Given the description of an element on the screen output the (x, y) to click on. 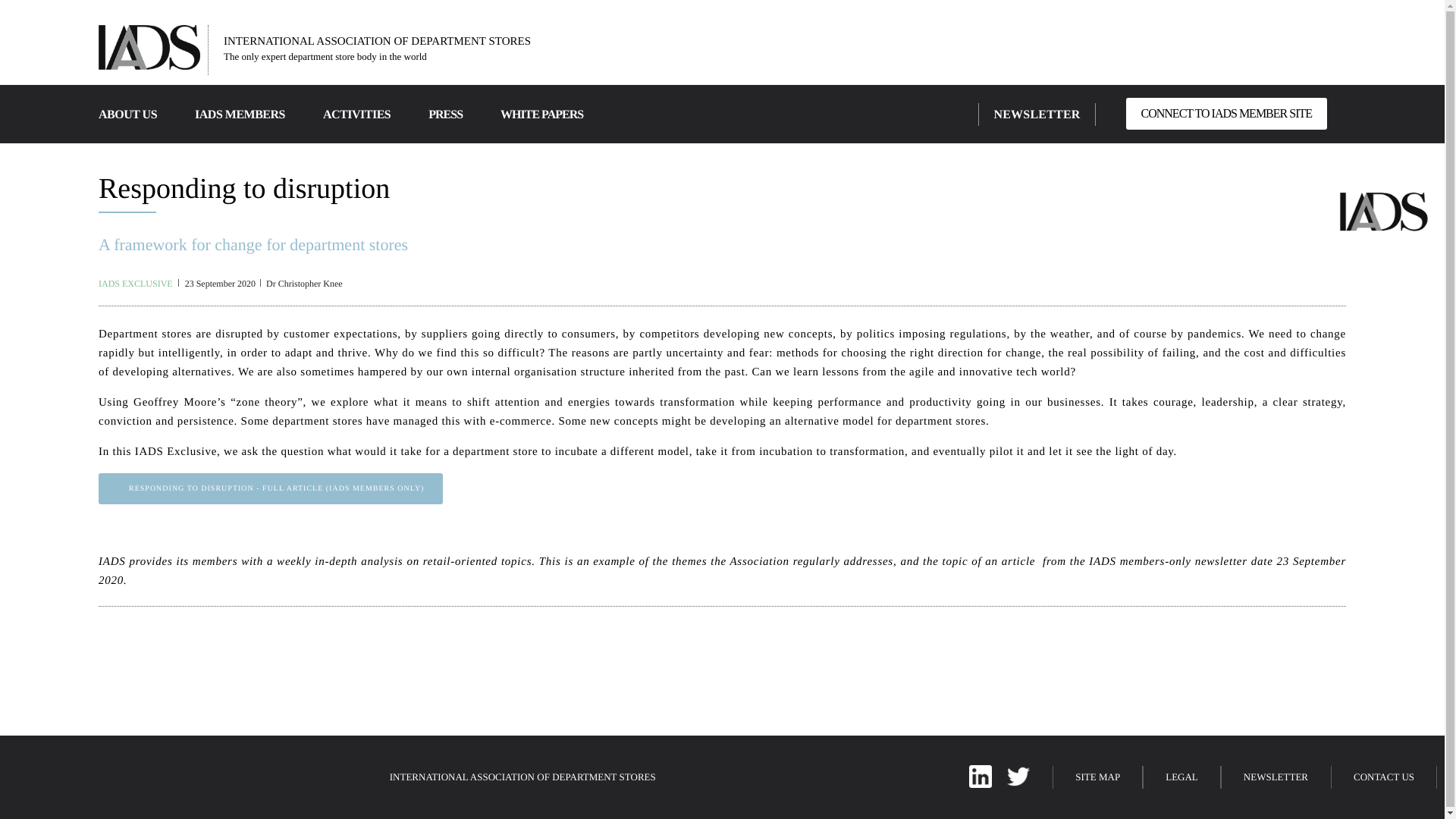
PRESS (445, 114)
NEWSLETTER (1036, 114)
CONNECT TO IADS MEMBER SITE (1225, 113)
WHITE PAPERS (541, 114)
